Given the description of an element on the screen output the (x, y) to click on. 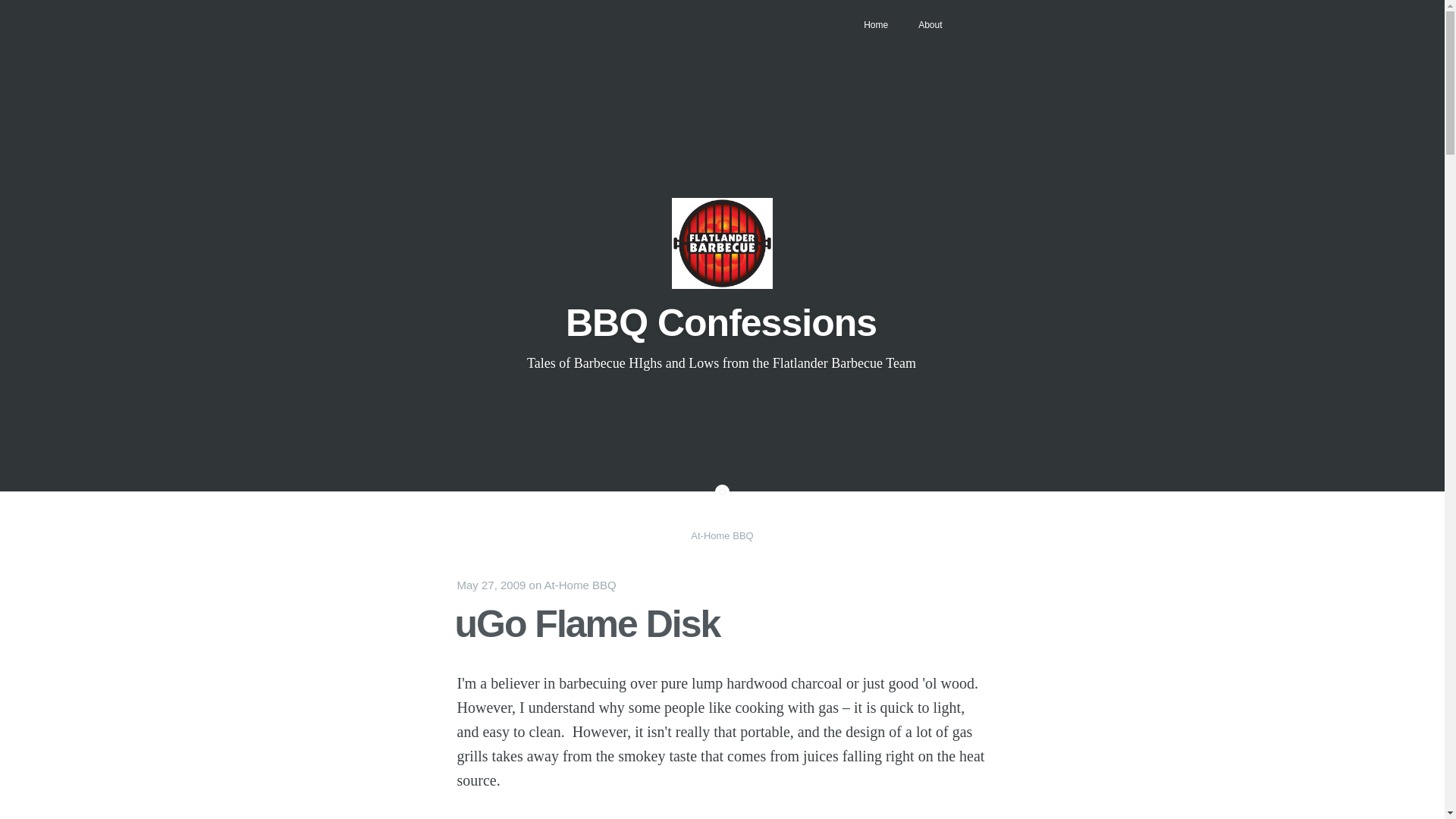
Search (24, 9)
Skip to content (472, 12)
At-Home BBQ (579, 584)
BBQ Confessions (721, 322)
About (929, 24)
May 27, 2009 (491, 584)
uGo Flame Disk (587, 623)
Home (875, 24)
